Given the description of an element on the screen output the (x, y) to click on. 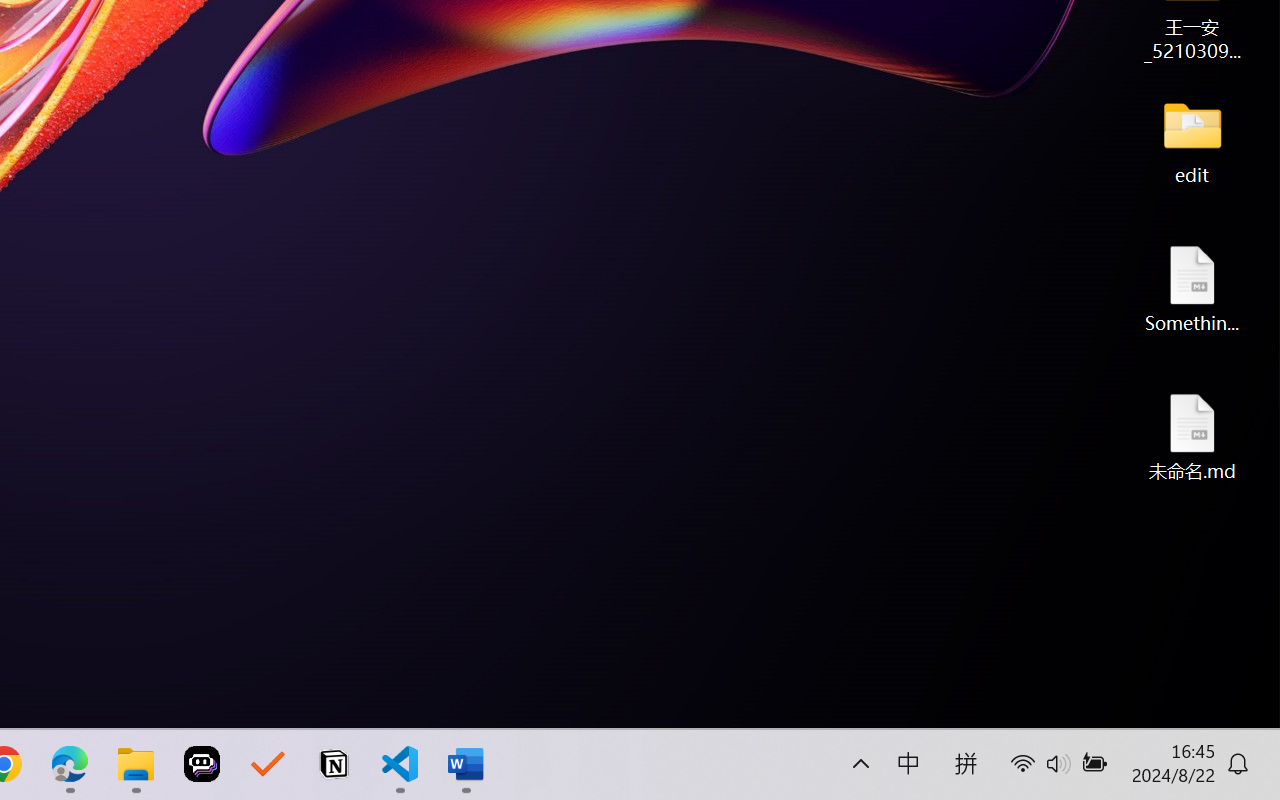
Something.md (1192, 288)
edit (1192, 140)
